Given the description of an element on the screen output the (x, y) to click on. 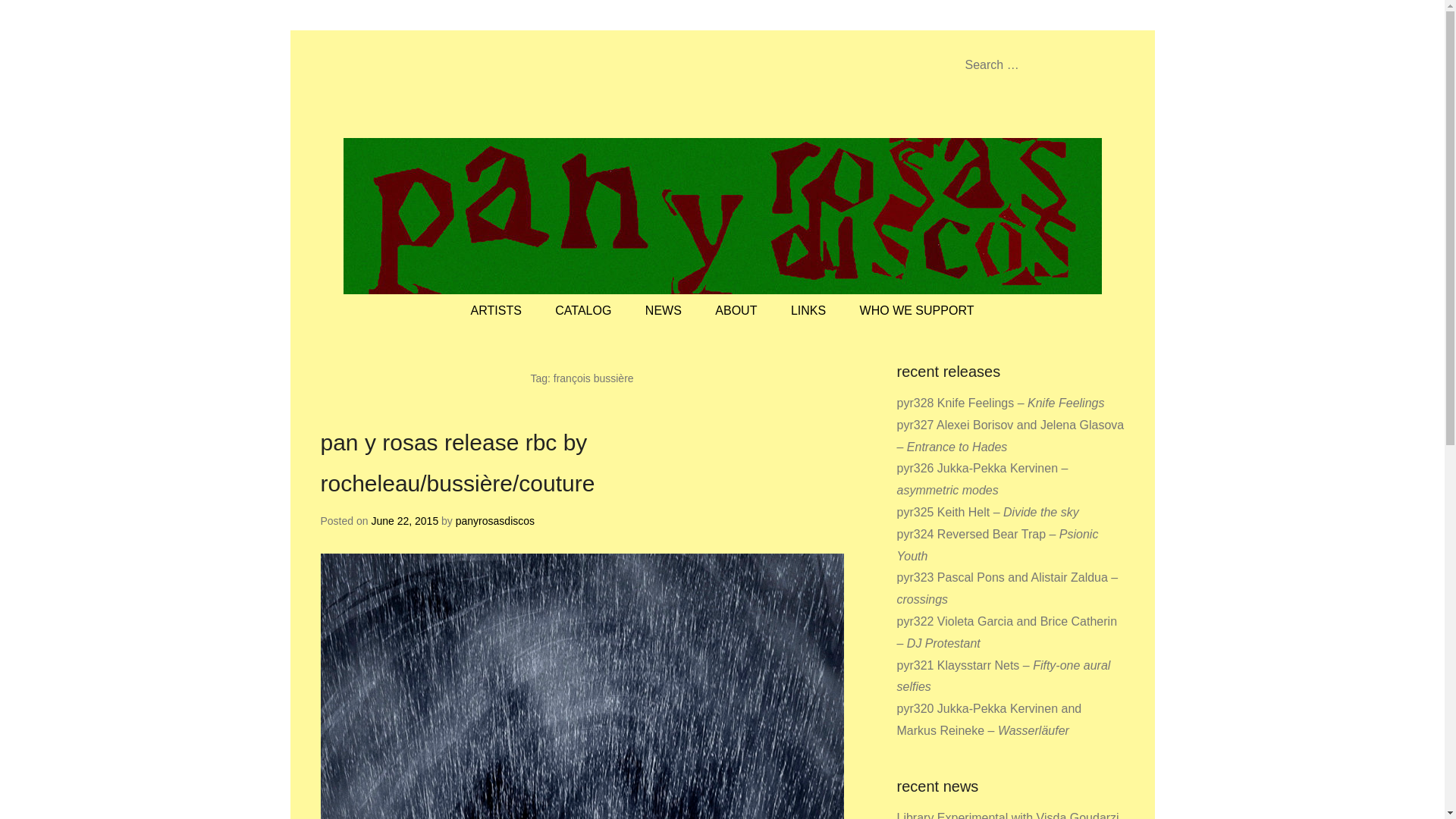
11:35 am (404, 521)
WHO WE SUPPORT (917, 310)
View all posts by panyrosasdiscos (494, 521)
panyrosasdiscos (494, 521)
pan y rosas discos (490, 87)
LINKS (808, 310)
ARTISTS (496, 310)
Search (32, 15)
ABOUT (735, 310)
